Given the description of an element on the screen output the (x, y) to click on. 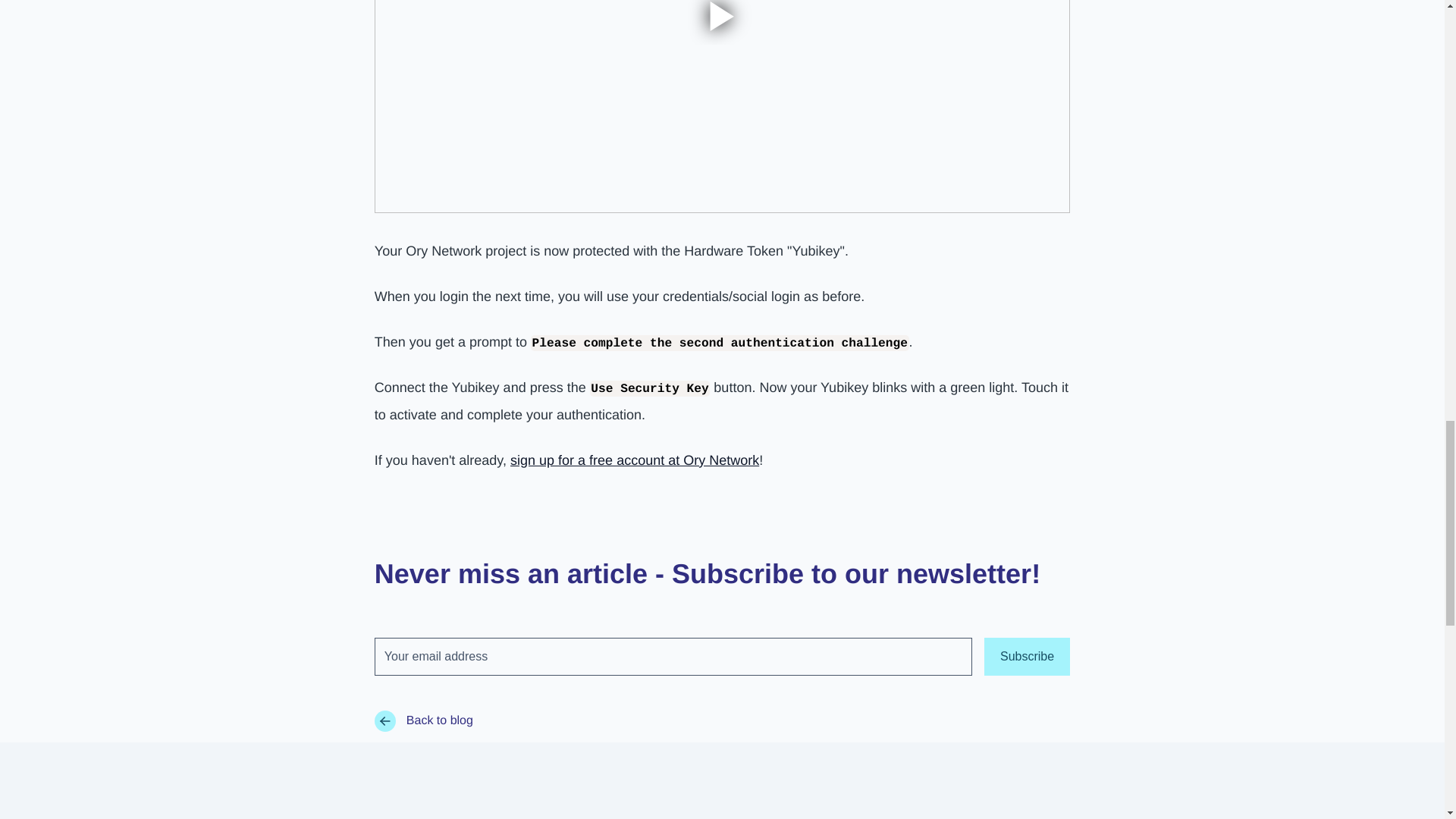
Subscribe (1027, 656)
Back to blog (722, 720)
sign up for a free account at Ory Network (634, 459)
